Given the description of an element on the screen output the (x, y) to click on. 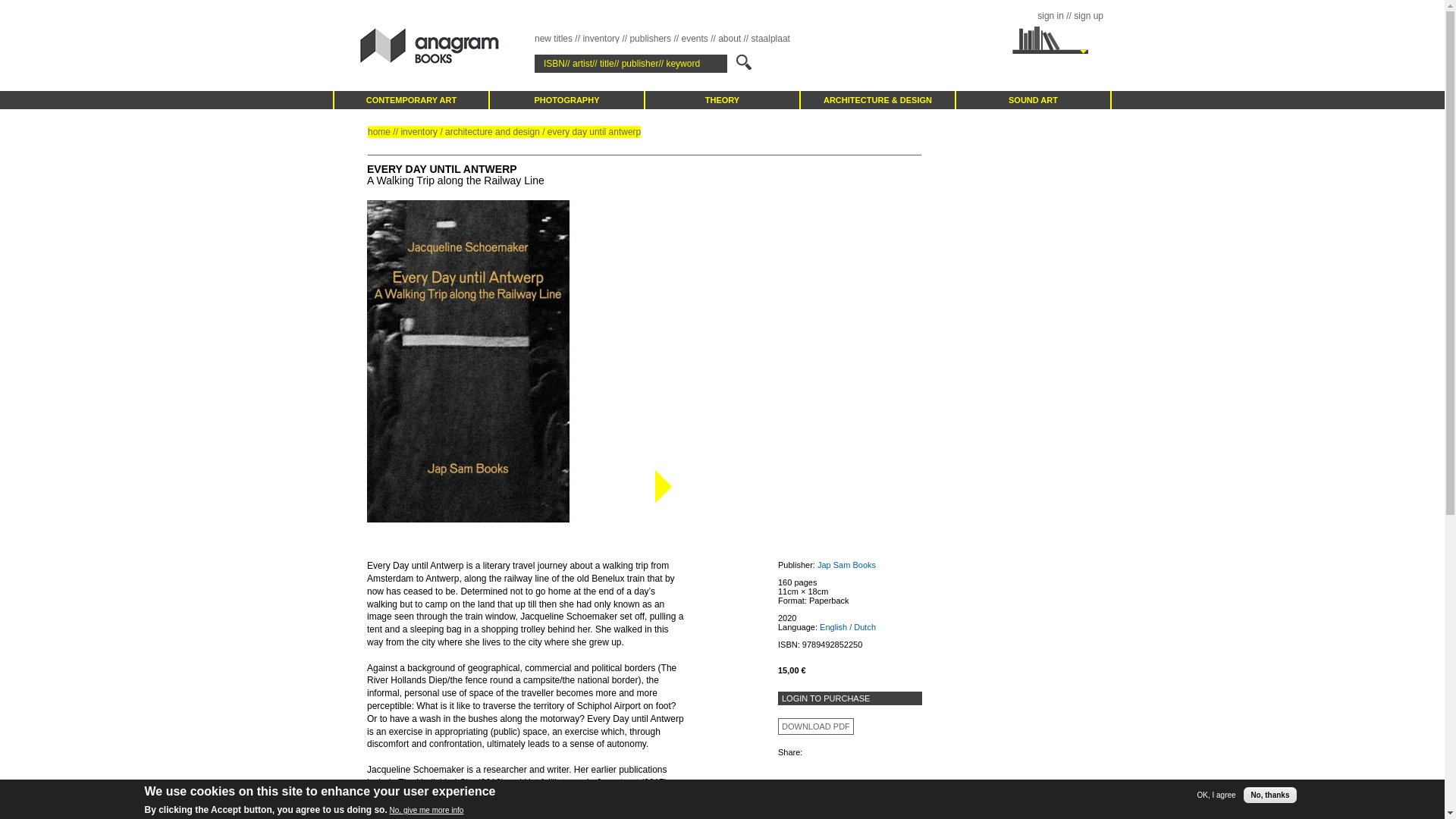
staalplaat (770, 38)
publishers (649, 38)
DOWNLOAD PDF (815, 726)
Home (458, 45)
sign up (1088, 16)
events (694, 38)
Enter the terms you wish to search for. (630, 63)
inventory (419, 132)
SOUND ART (1032, 99)
LOGIN TO PURCHASE (849, 698)
home (379, 132)
about (729, 38)
new titles (553, 38)
architecture and design (492, 132)
THEORY (722, 99)
